Given the description of an element on the screen output the (x, y) to click on. 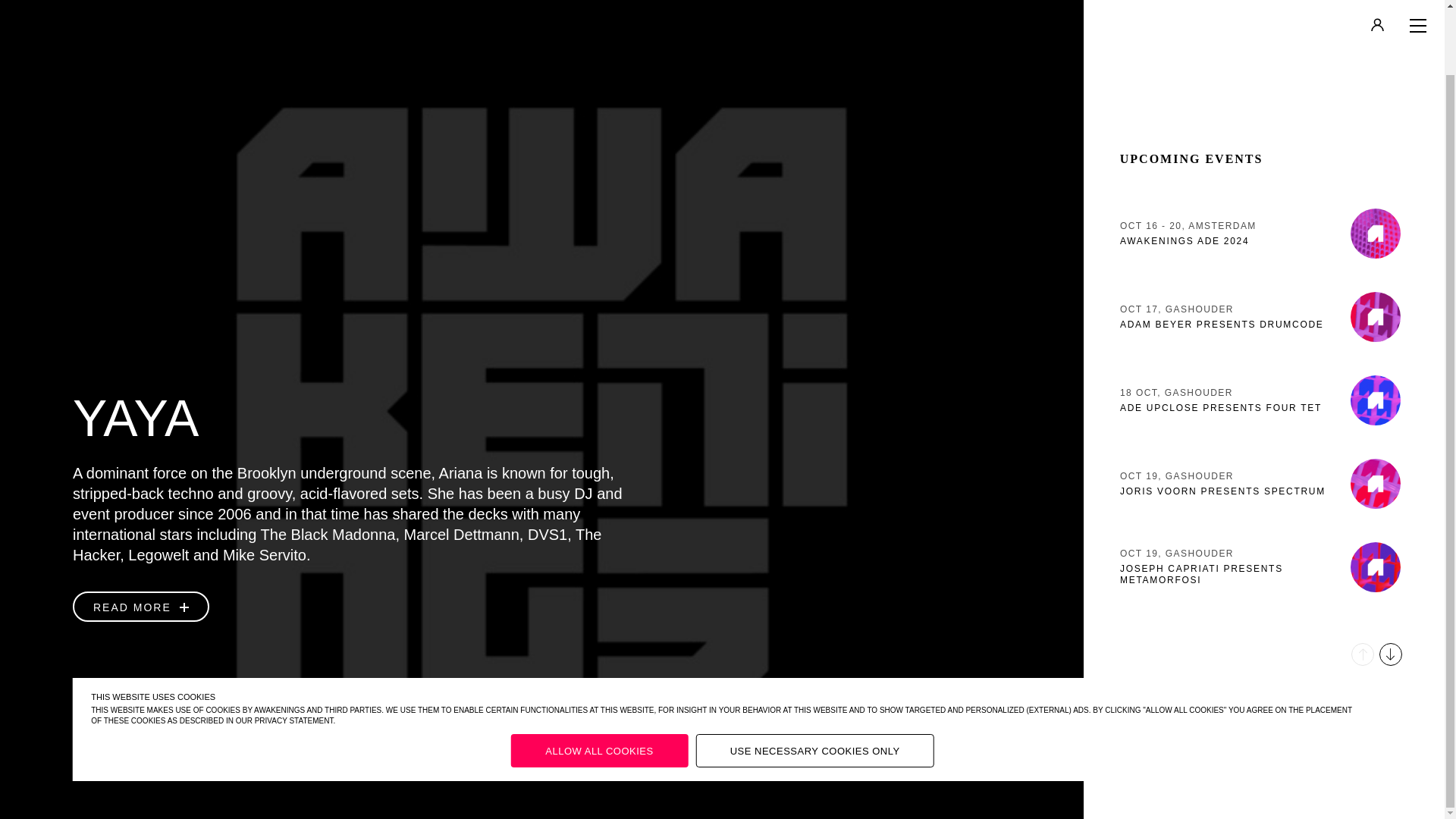
USE NECESSARY COOKIES ONLY (1263, 161)
ALLOW ALL COOKIES (814, 679)
READ MORE (1263, 329)
